Given the description of an element on the screen output the (x, y) to click on. 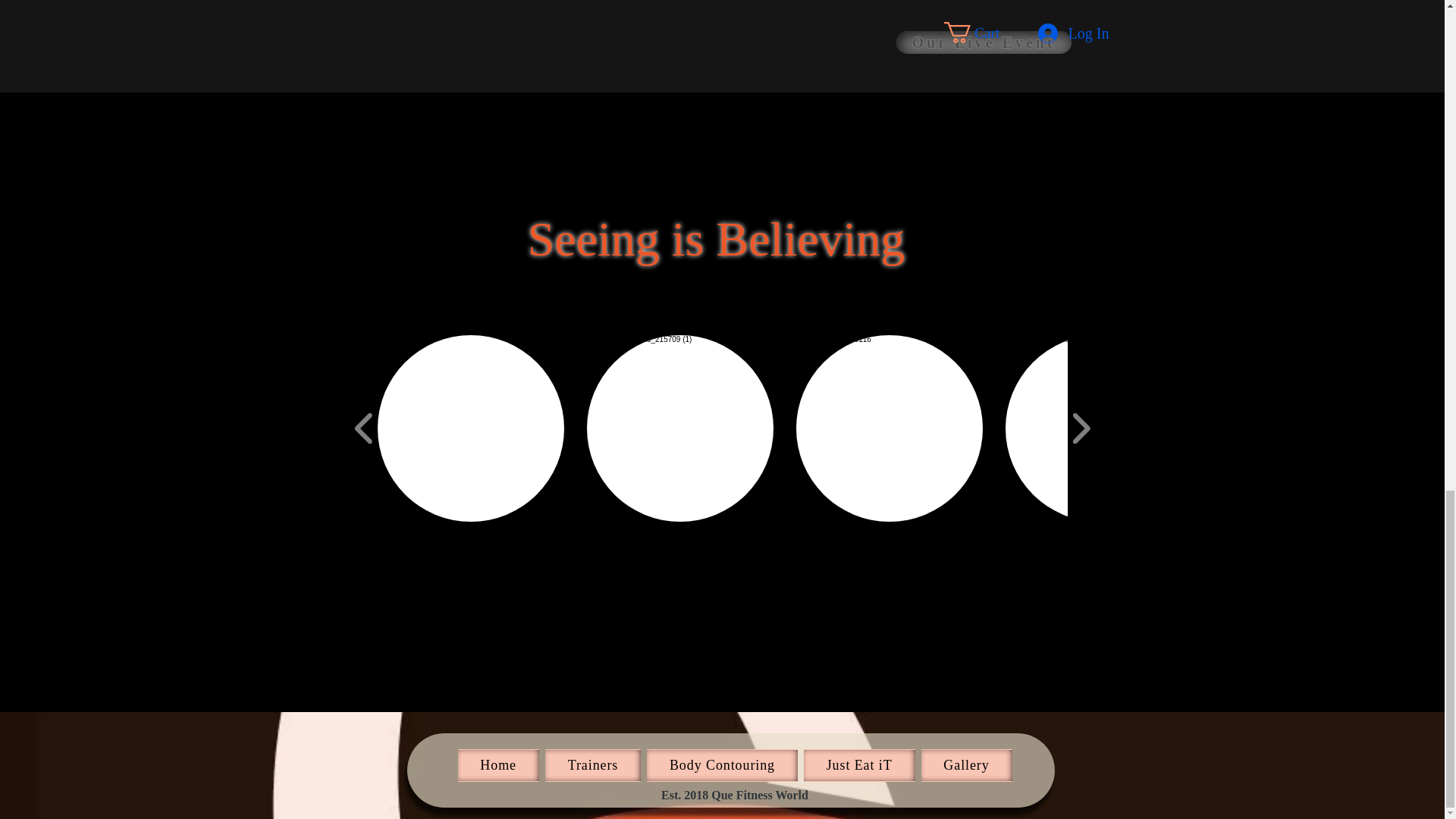
Just Eat iT (859, 765)
Body Contouring (721, 765)
Gallery (965, 765)
Home (498, 765)
Trainers (592, 765)
Our Live Event (983, 42)
